Given the description of an element on the screen output the (x, y) to click on. 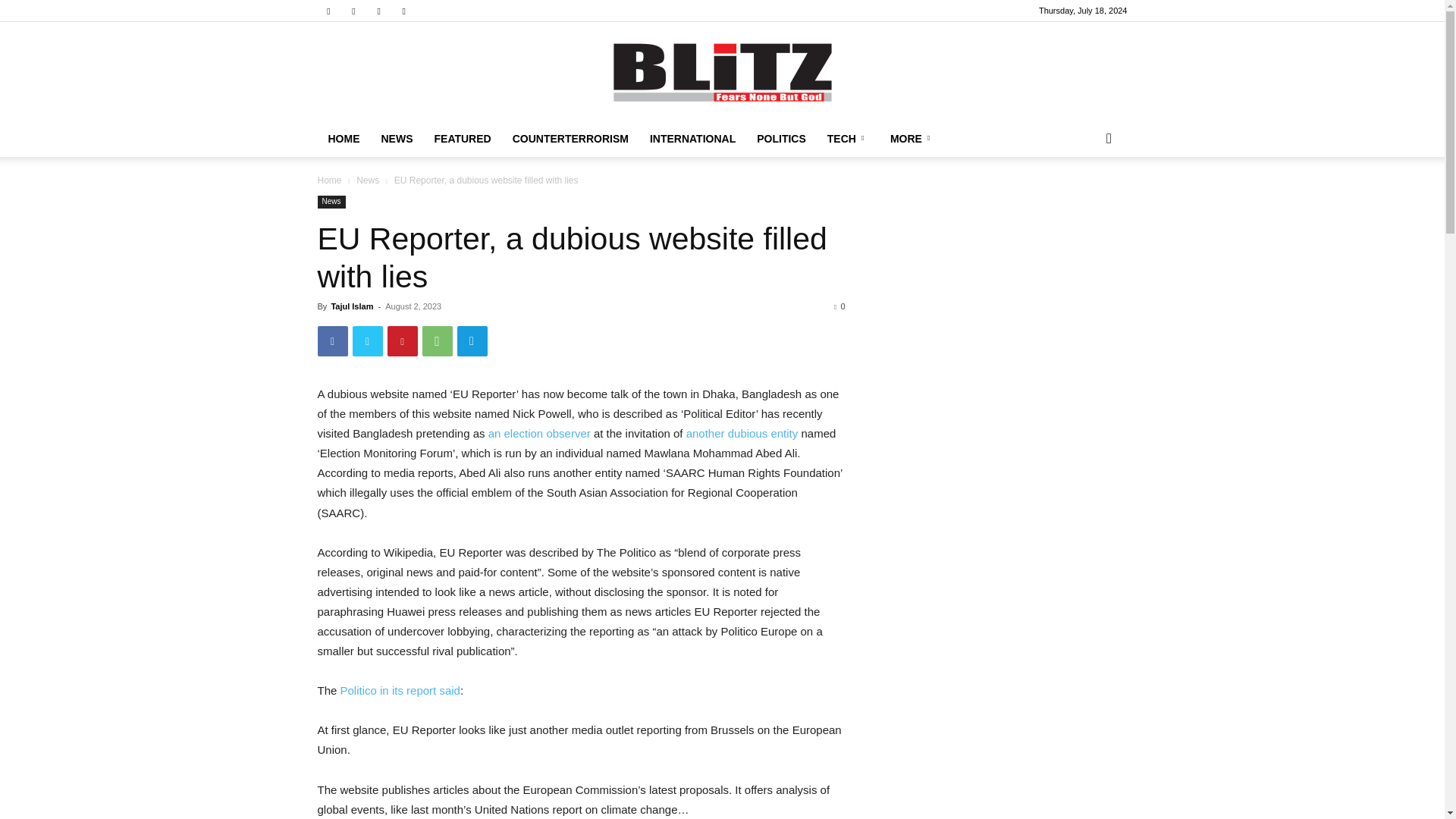
COUNTERTERRORISM (570, 138)
HOME (343, 138)
Twitter (379, 10)
FEATURED (461, 138)
INTERNATIONAL (692, 138)
Telegram (353, 10)
POLITICS (780, 138)
View all posts in News (367, 180)
Facebook (332, 340)
Youtube (403, 10)
Pinterest (401, 340)
NEWS (396, 138)
BLiTZ (721, 72)
Twitter (366, 340)
Facebook (328, 10)
